Given the description of an element on the screen output the (x, y) to click on. 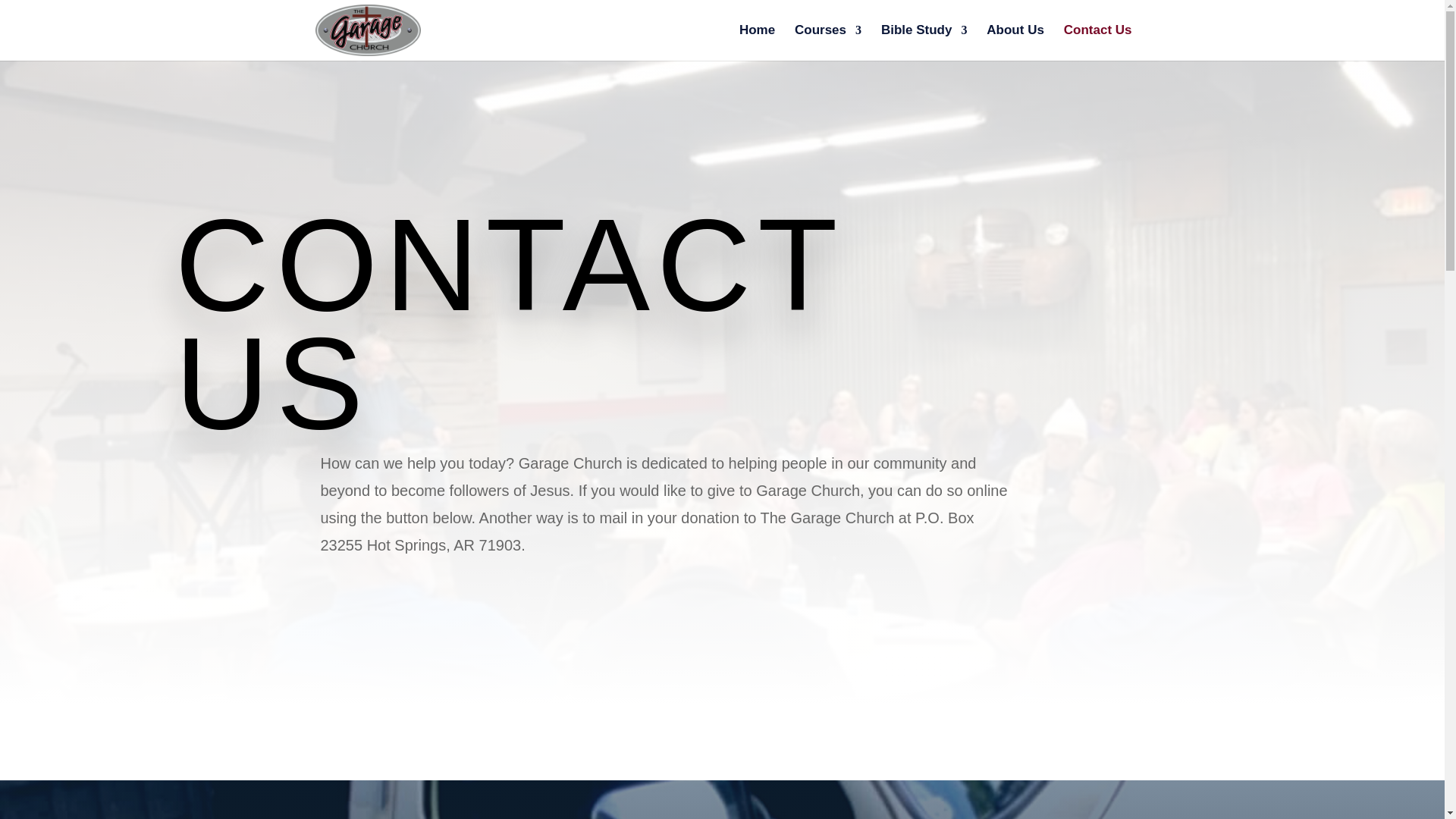
Courses (827, 42)
About Us (1015, 42)
Home (756, 42)
Bible Study (924, 42)
Contact Us (1098, 42)
